Given the description of an element on the screen output the (x, y) to click on. 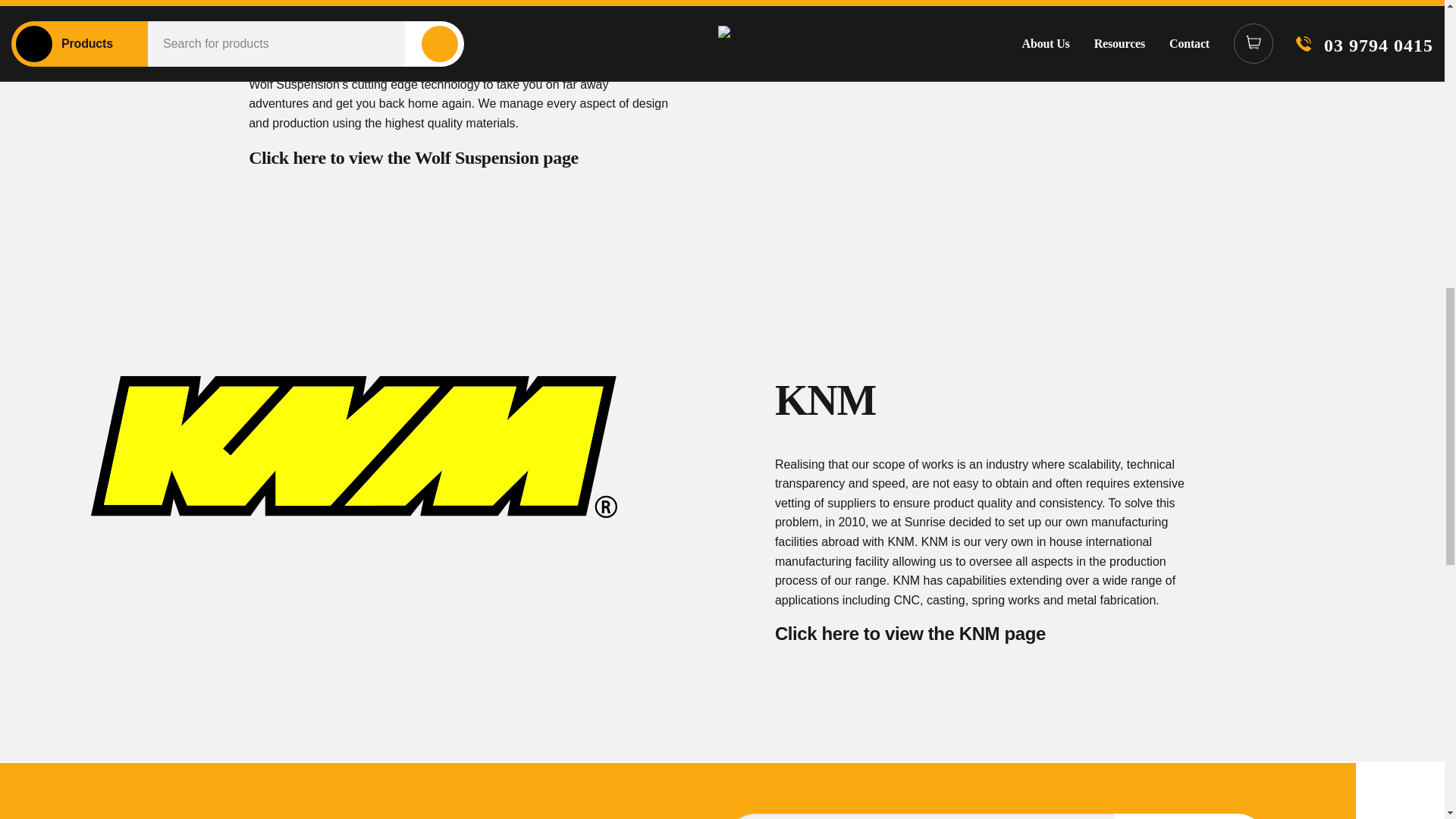
KNM Logo Colour (353, 446)
Wolf Text Green (1090, 22)
Click here to view the KNM page (909, 633)
Click here to view the Wolf Suspension page (413, 157)
